Given the description of an element on the screen output the (x, y) to click on. 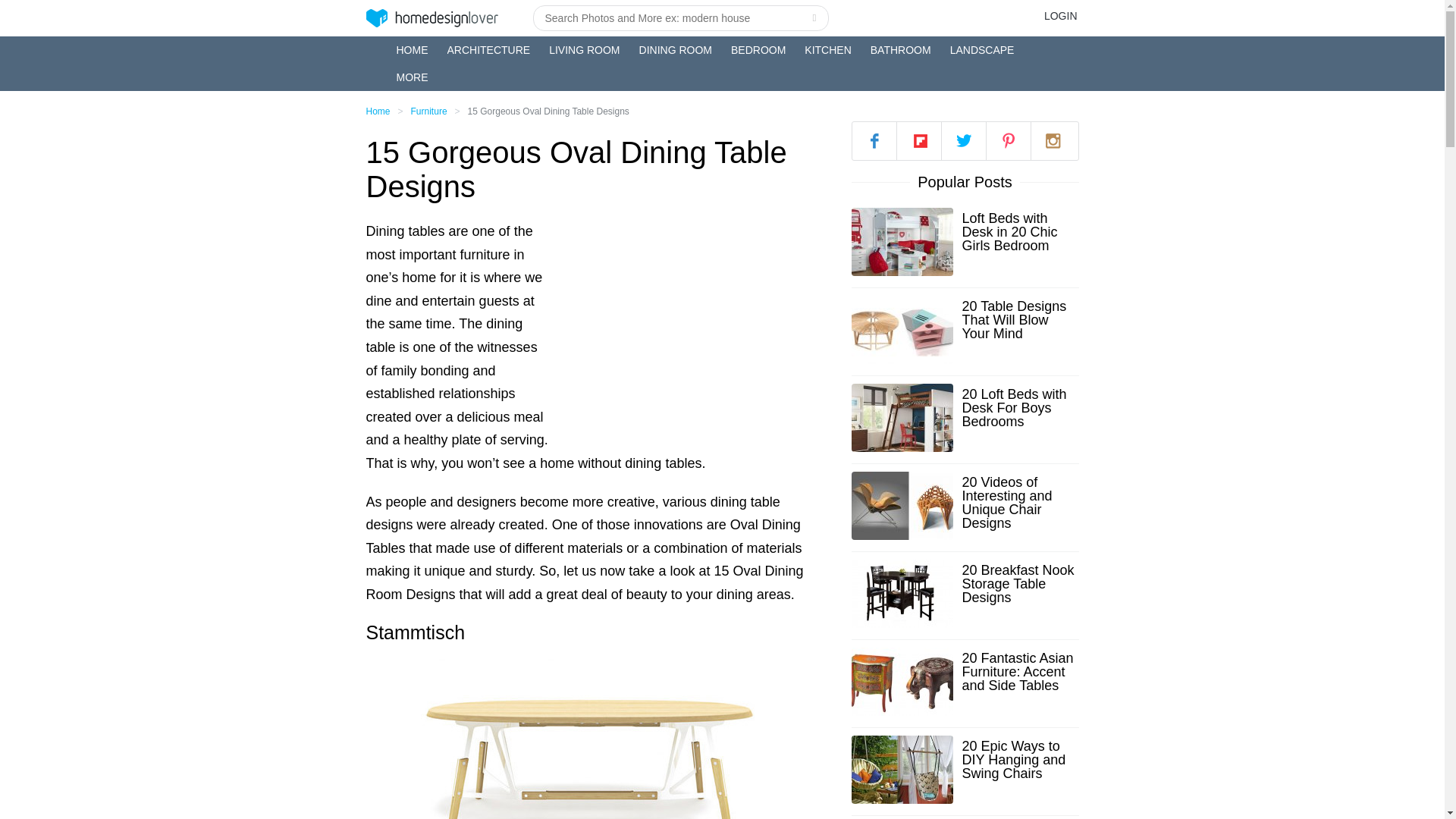
LANDSCAPE (982, 49)
KITCHEN (827, 49)
LIVING ROOM (584, 49)
20 Table Designs That Will Blow Your Mind (1019, 319)
LOGIN (1060, 15)
BEDROOM (758, 49)
Loft Beds with Desk in 20 Chic Girls Bedroom (1019, 231)
DINING ROOM (675, 49)
20 Loft Beds with Desk For Boys Bedrooms (1019, 407)
Furniture (428, 111)
